Given the description of an element on the screen output the (x, y) to click on. 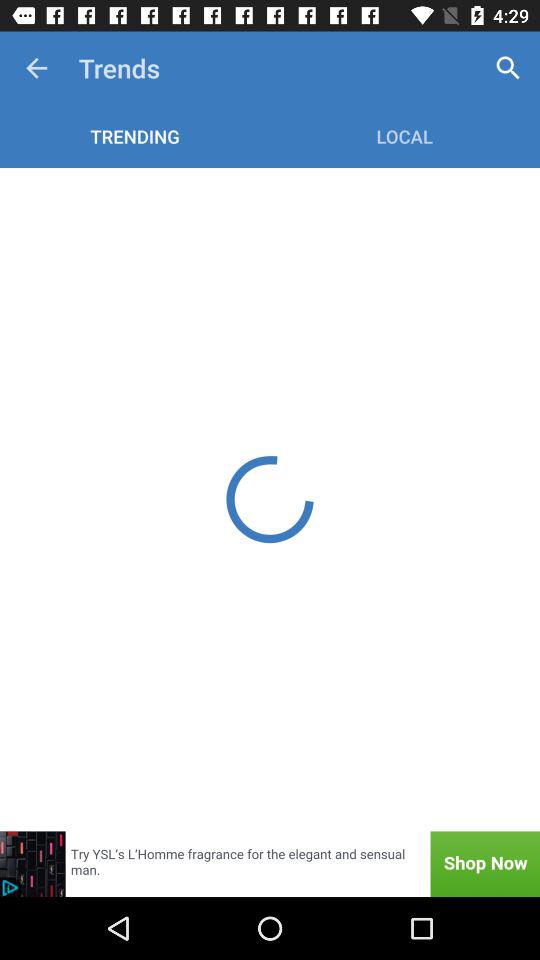
click app next to the trends item (36, 68)
